Given the description of an element on the screen output the (x, y) to click on. 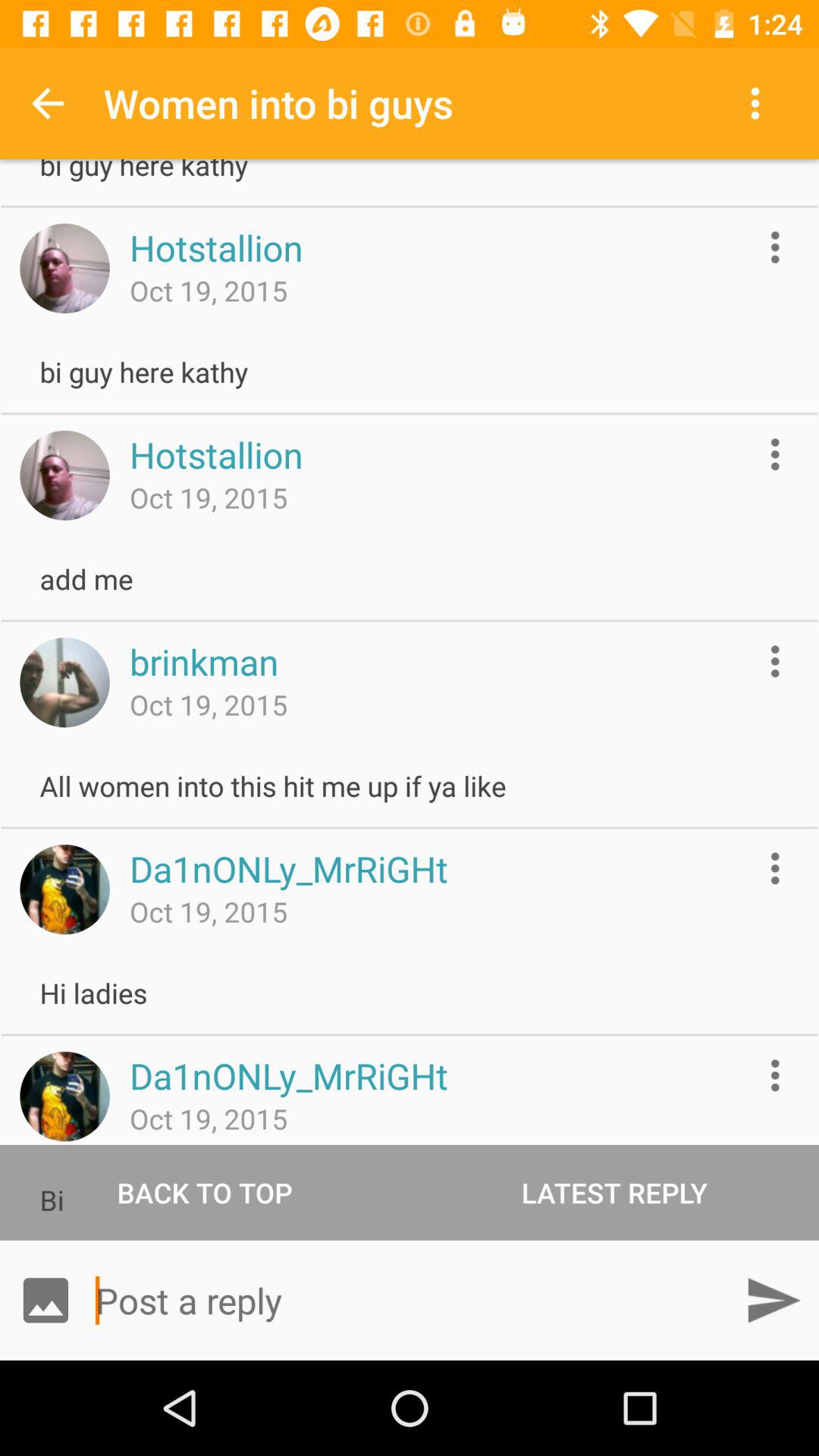
open gallery (45, 1300)
